Given the description of an element on the screen output the (x, y) to click on. 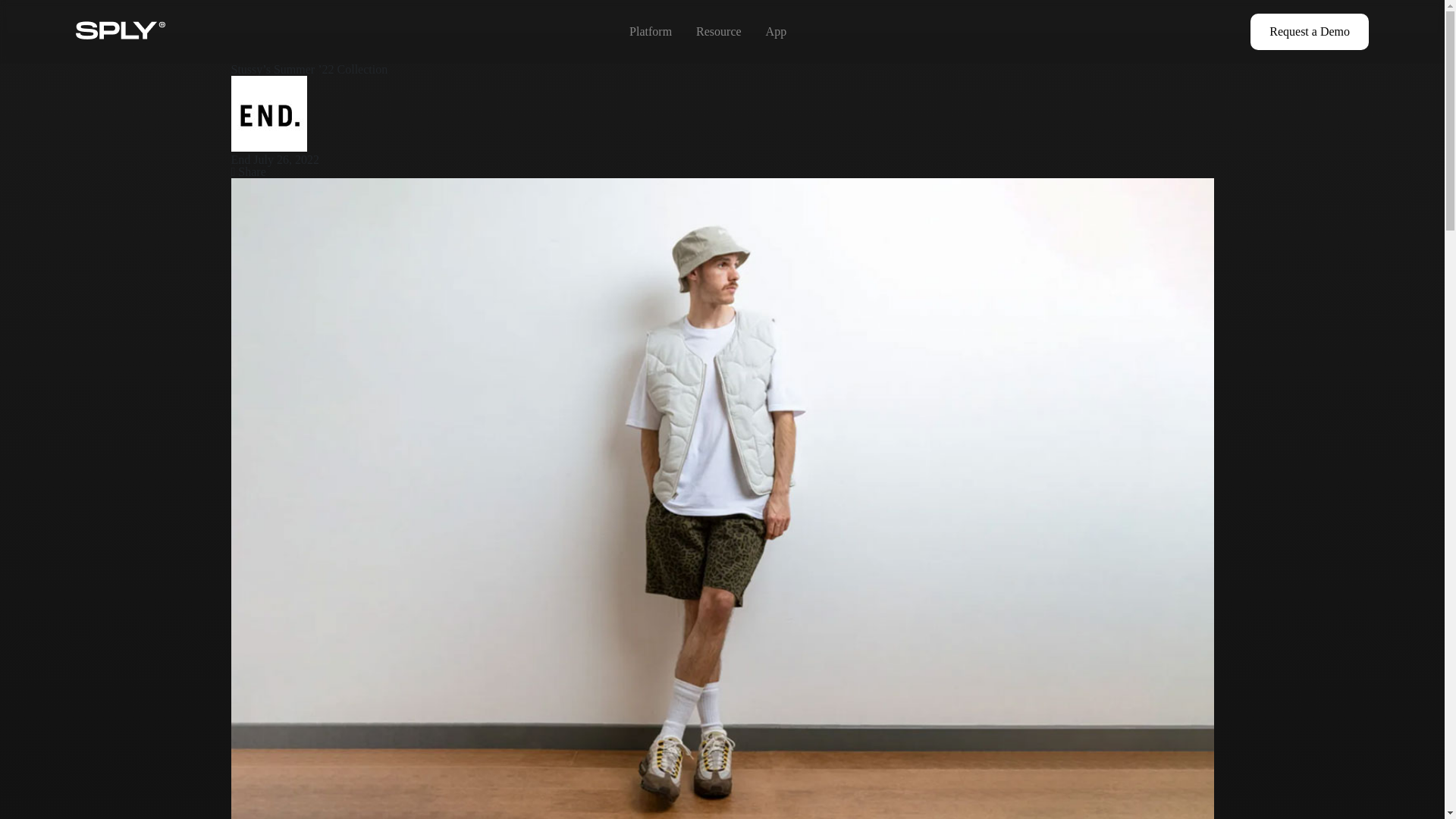
App (776, 31)
Request a Demo (1309, 31)
Resource (718, 31)
Share (247, 171)
Platform (649, 31)
